Given the description of an element on the screen output the (x, y) to click on. 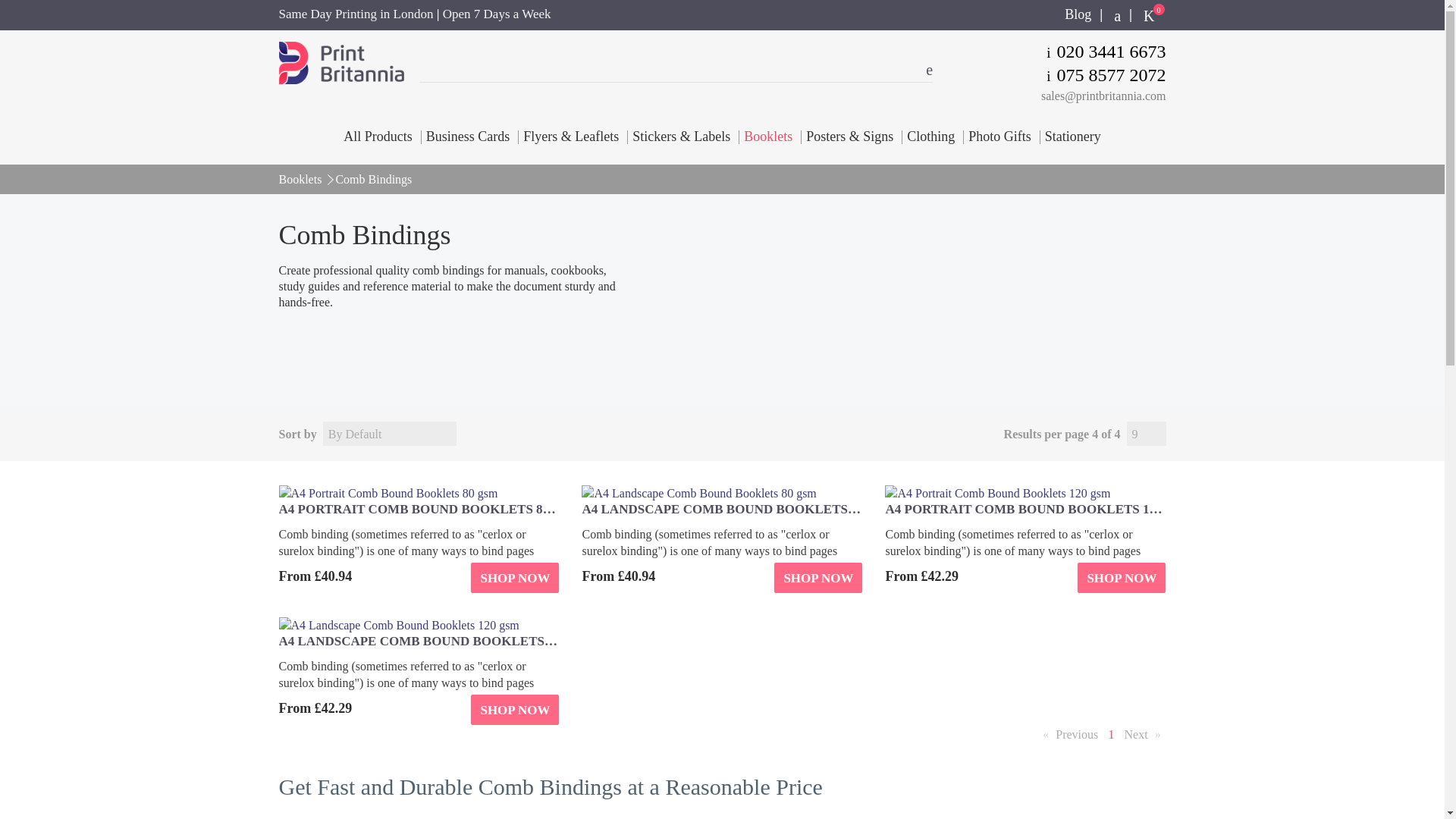
Blog (1077, 14)
0 (1149, 14)
075 8577 2072 (1106, 75)
020 3441 6673 (1106, 51)
All Products (381, 137)
